Given the description of an element on the screen output the (x, y) to click on. 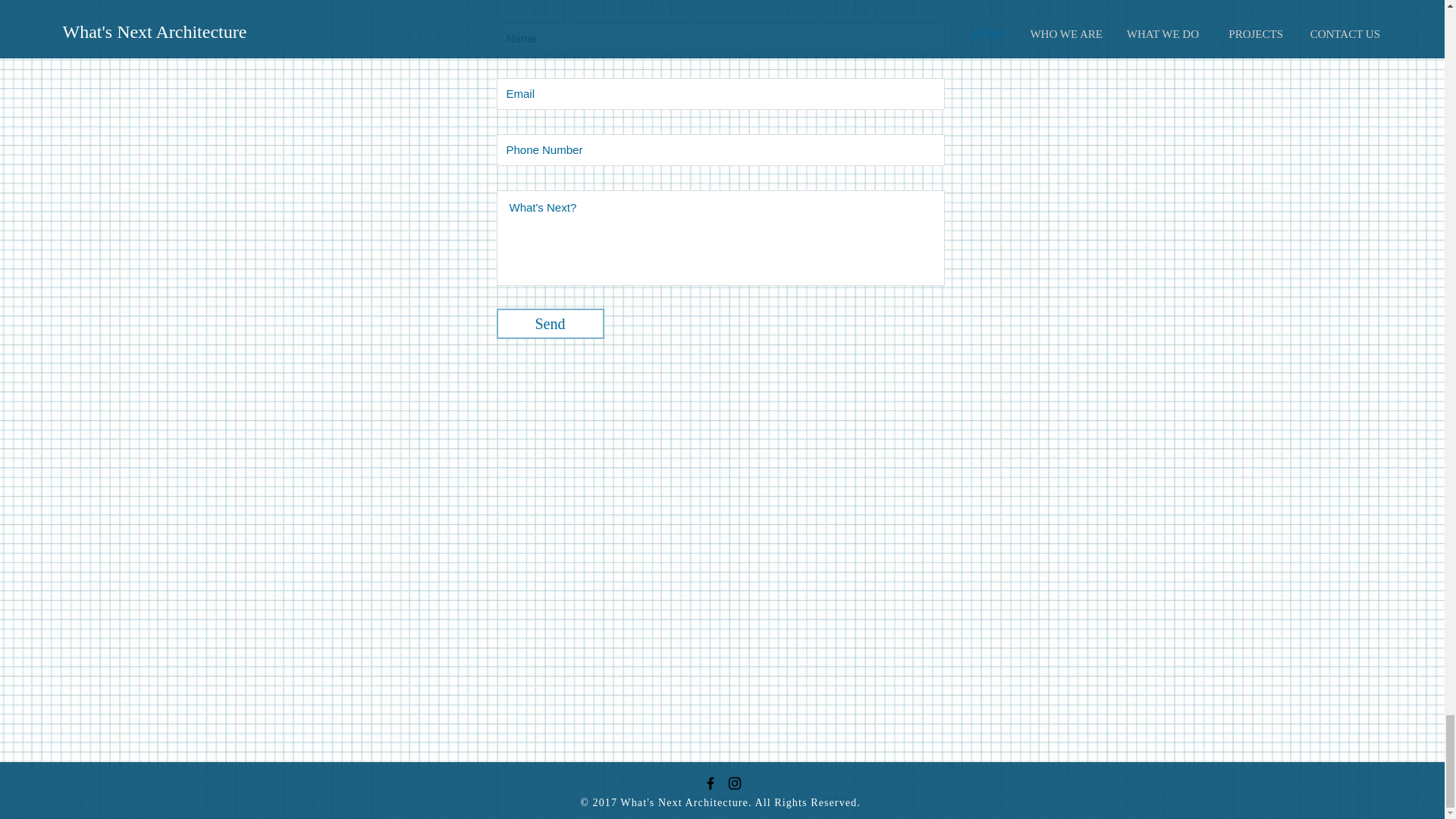
Send (550, 323)
